Given the description of an element on the screen output the (x, y) to click on. 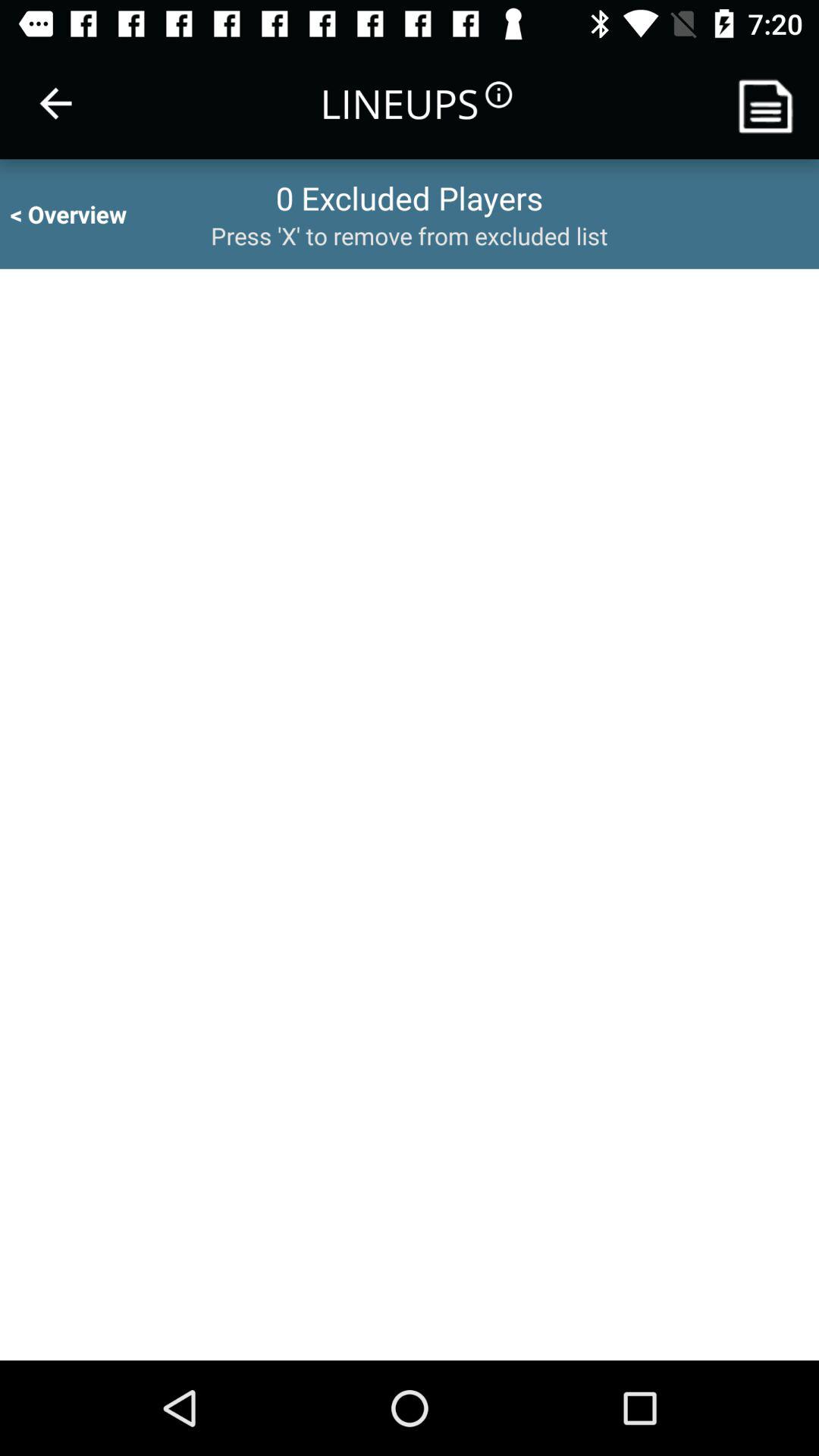
go to list of players (771, 103)
